Given the description of an element on the screen output the (x, y) to click on. 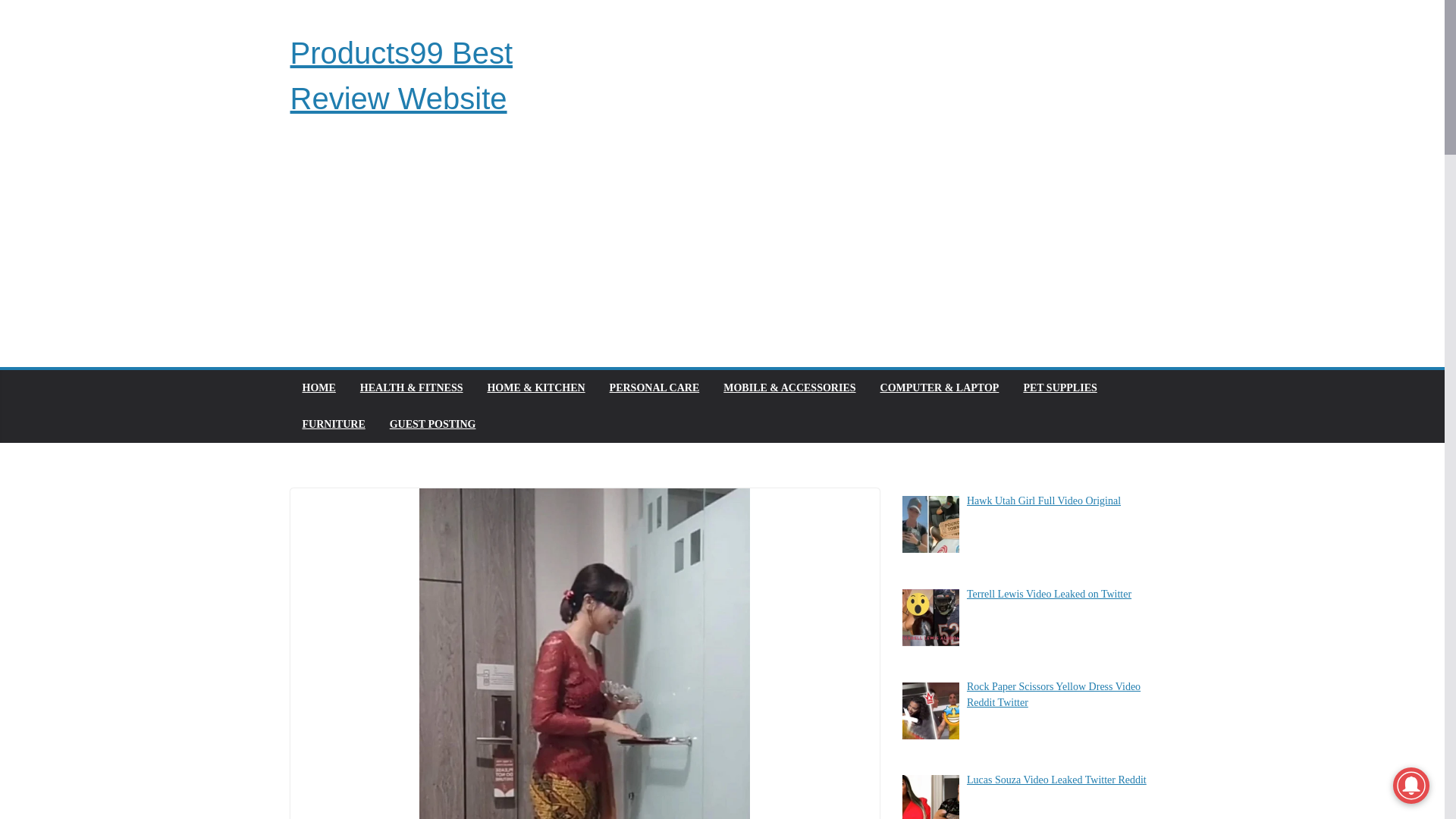
Terrell Lewis Video Leaked on Twitter (1048, 593)
Products99 Best Review Website (400, 75)
Products99 Best Review Website (400, 75)
PET SUPPLIES (1059, 387)
PERSONAL CARE (655, 387)
HOME (317, 387)
Rock Paper Scissors Yellow Dress Video Reddit Twitter (1053, 694)
Lucas Souza Video Leaked Twitter Reddit (1056, 779)
FURNITURE (333, 424)
Hawk Utah Girl Full Video Original (1043, 500)
GUEST POSTING (433, 424)
